Given the description of an element on the screen output the (x, y) to click on. 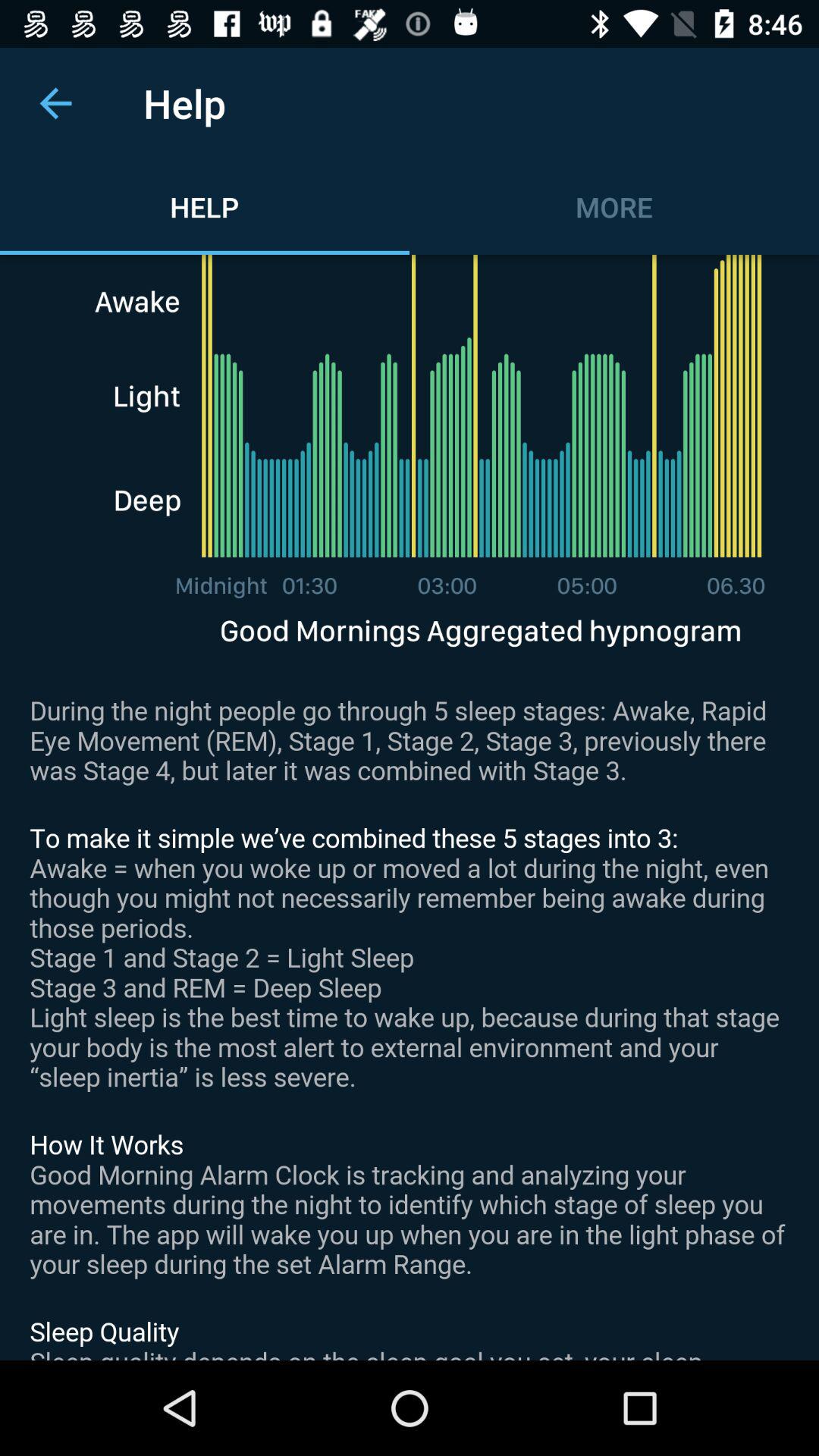
advertisement page (409, 807)
